Given the description of an element on the screen output the (x, y) to click on. 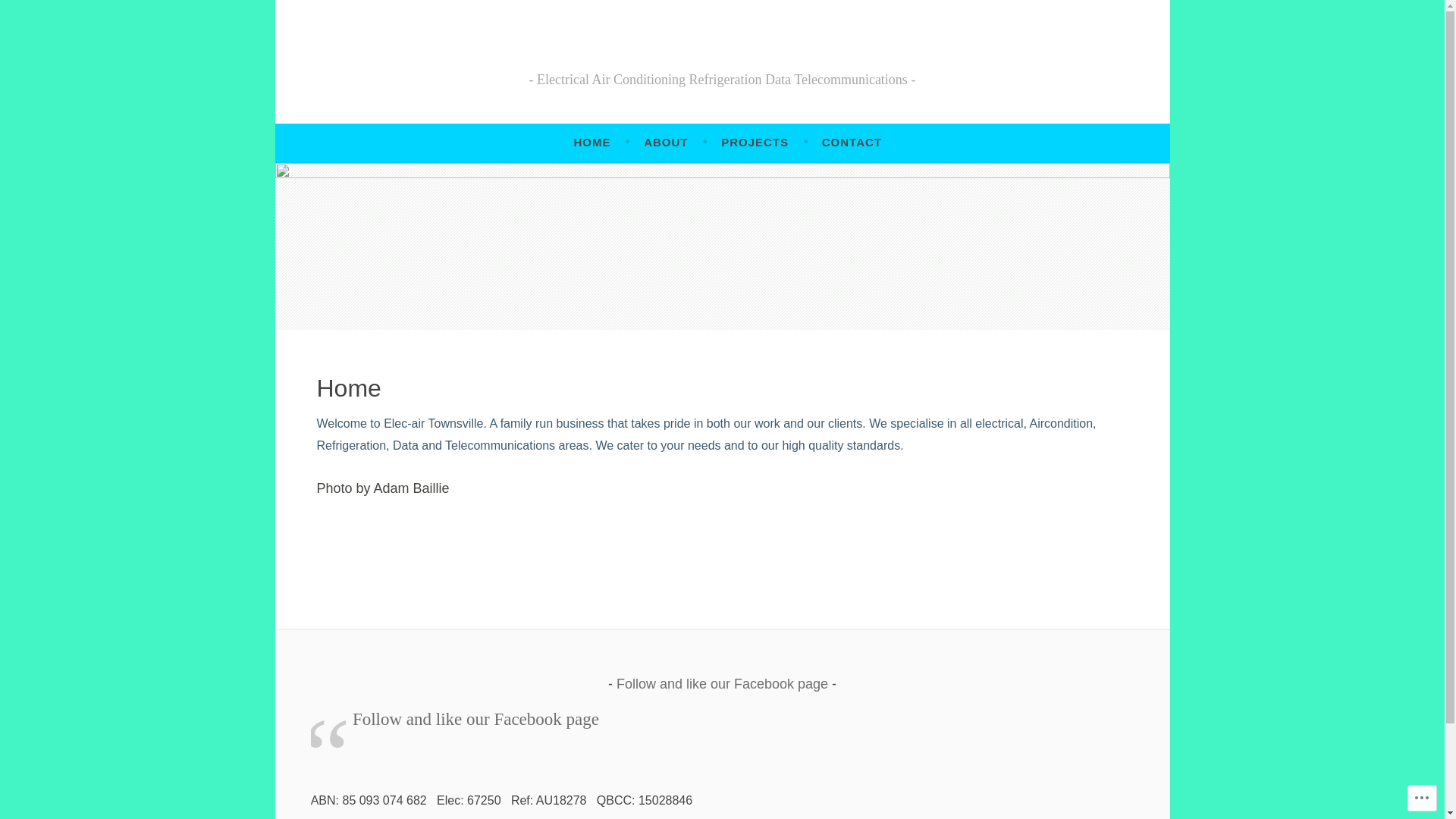
Follow and like our Facebook page Element type: text (722, 683)
PROJECTS Element type: text (754, 142)
HOME Element type: text (591, 142)
ABOUT Element type: text (665, 142)
CONTACT Element type: text (851, 142)
Follow and like our Facebook page Element type: text (475, 718)
